Given the description of an element on the screen output the (x, y) to click on. 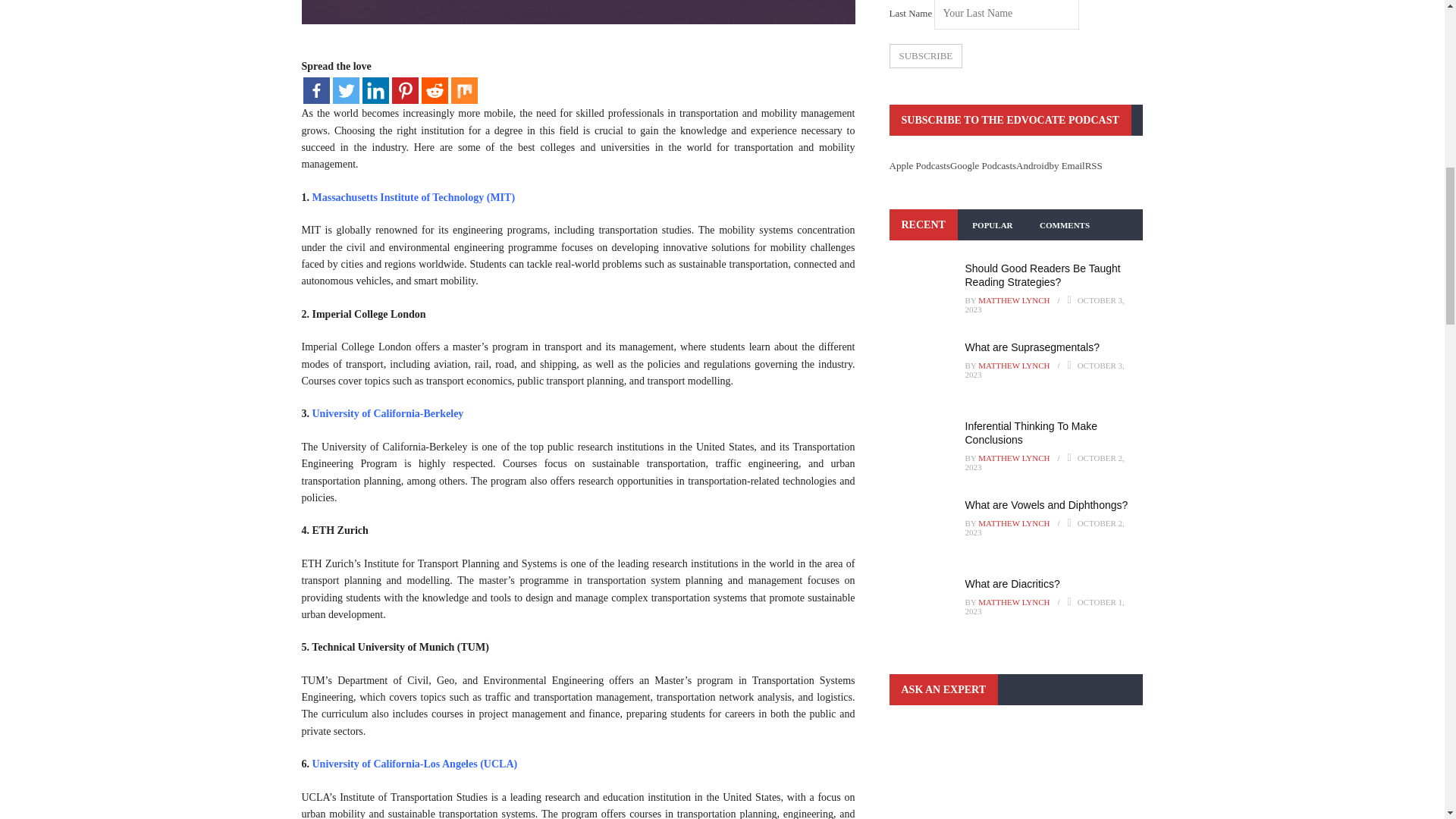
Mix (463, 90)
Reddit (435, 90)
Subscribe by Email (1066, 164)
Subscribe on Google Podcasts (983, 164)
Pinterest (404, 90)
Linkedin (375, 90)
Subscribe (925, 55)
Subscribe on Apple Podcasts (919, 164)
Twitter (344, 90)
Subscribe on Android (1032, 164)
